Given the description of an element on the screen output the (x, y) to click on. 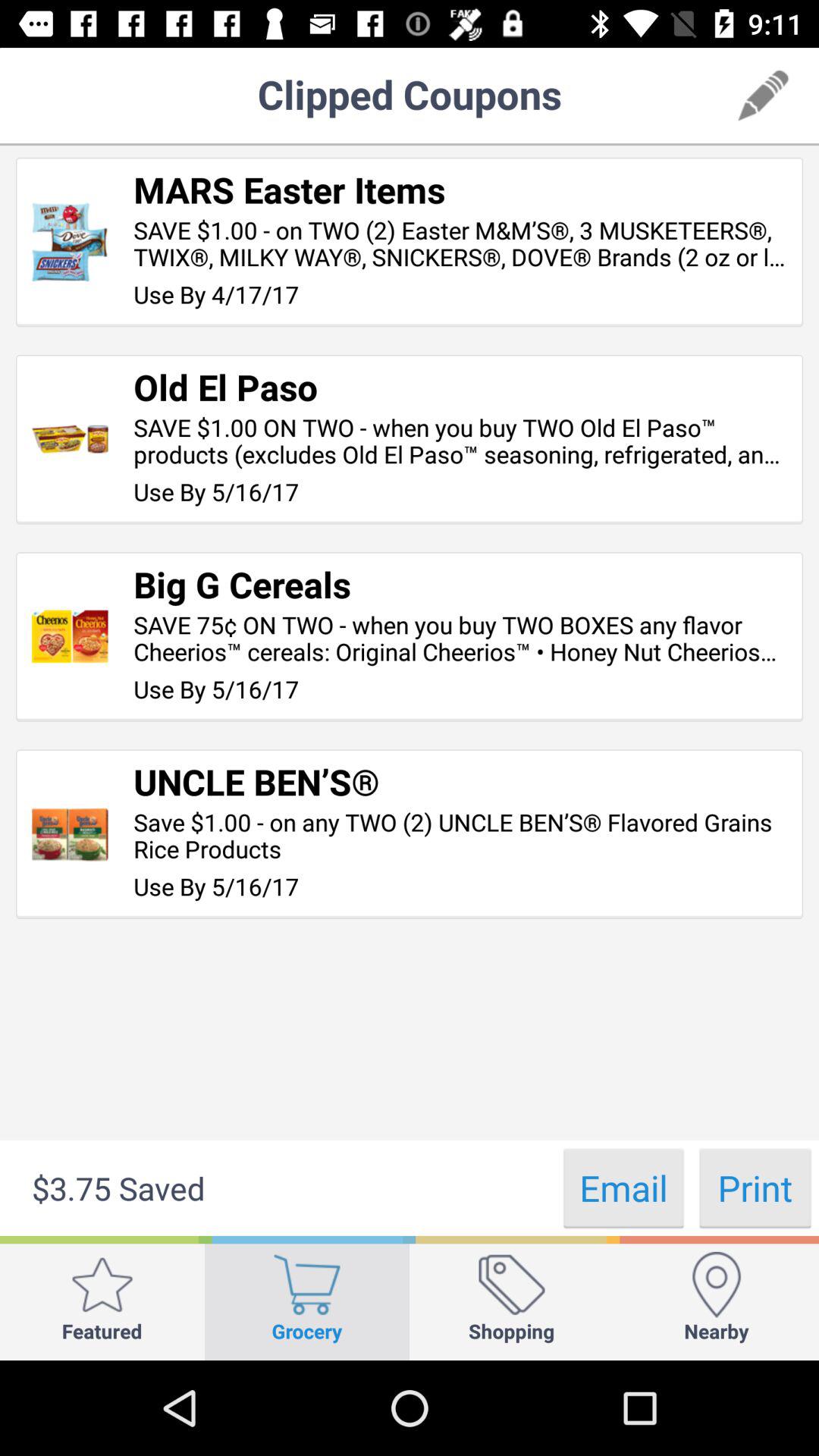
choose the email button (623, 1187)
